Given the description of an element on the screen output the (x, y) to click on. 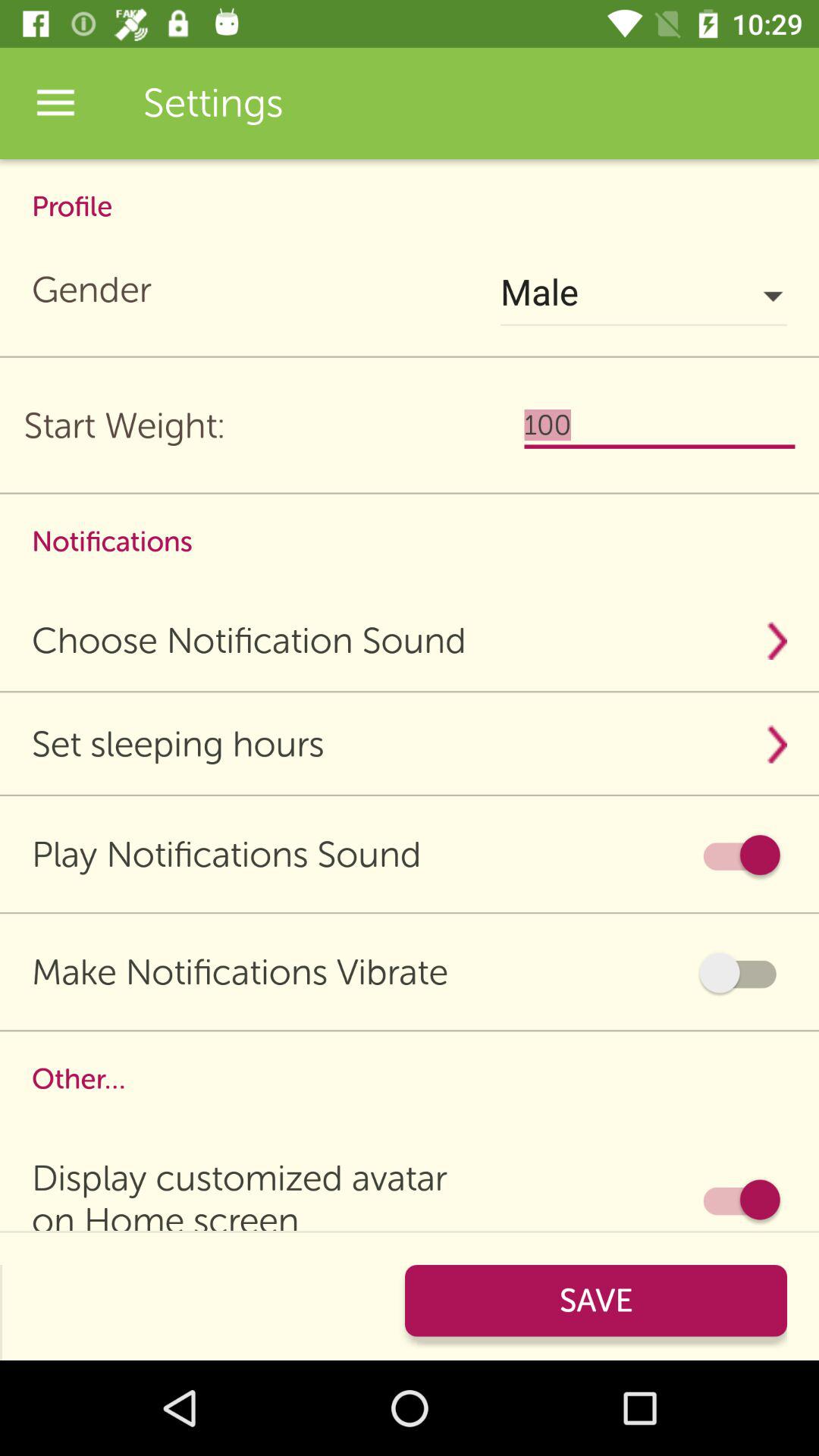
swipe until save item (595, 1300)
